Given the description of an element on the screen output the (x, y) to click on. 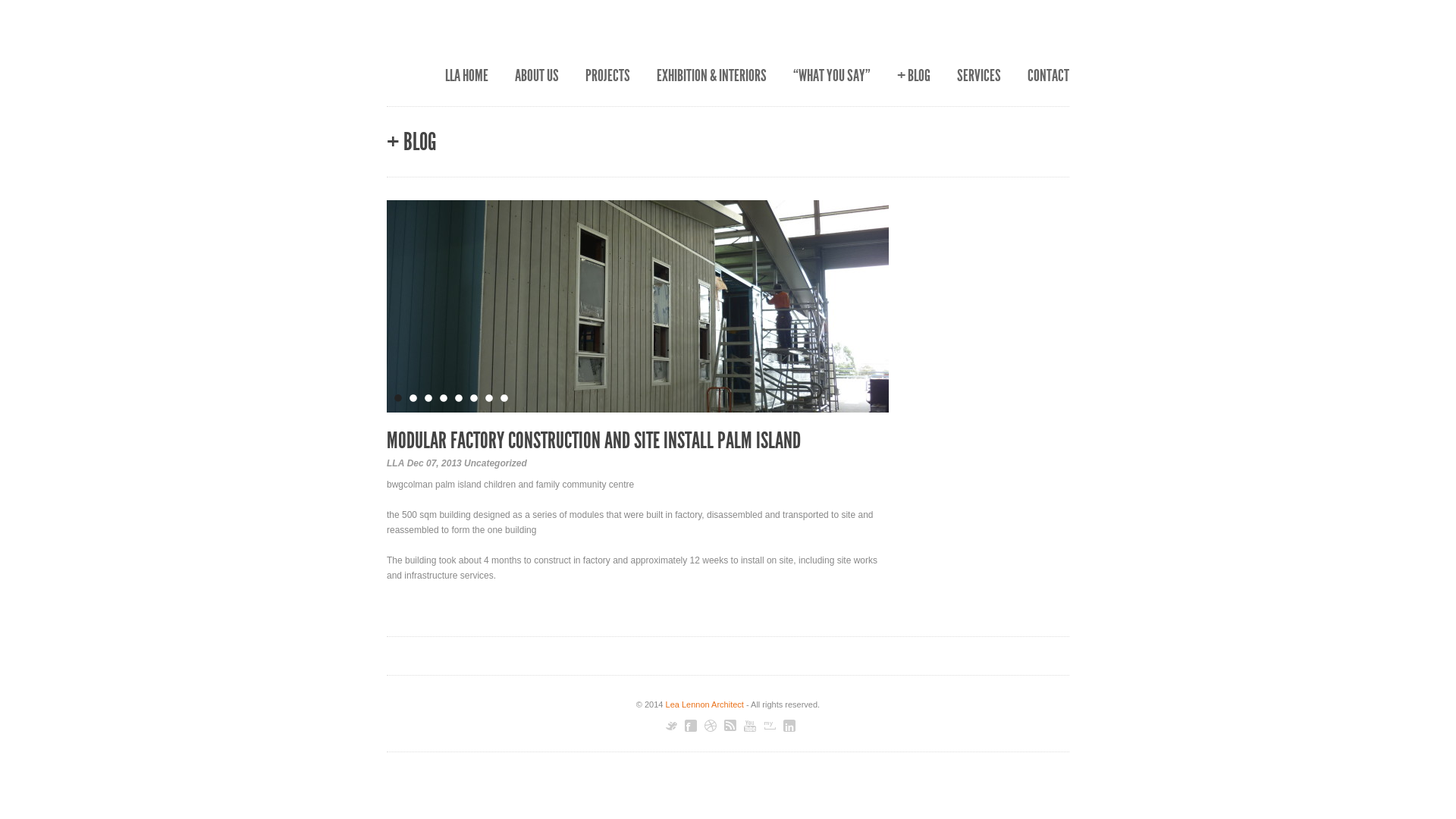
8 Element type: text (504, 397)
+ BLOG Element type: text (913, 75)
Uncategorized Element type: text (495, 463)
LLA Element type: text (395, 463)
Lea Lennon Architect Element type: text (704, 704)
ABOUT US Element type: text (536, 75)
1 Element type: text (397, 397)
SERVICES Element type: text (979, 75)
7 Element type: text (488, 397)
5 Element type: text (458, 397)
2 Element type: text (413, 397)
4 Element type: text (443, 397)
PROJECTS Element type: text (607, 75)
CONTACT Element type: text (1048, 75)
EXHIBITION & INTERIORS Element type: text (711, 75)
6 Element type: text (473, 397)
LLA HOME Element type: text (466, 75)
3 Element type: text (428, 397)
